Given the description of an element on the screen output the (x, y) to click on. 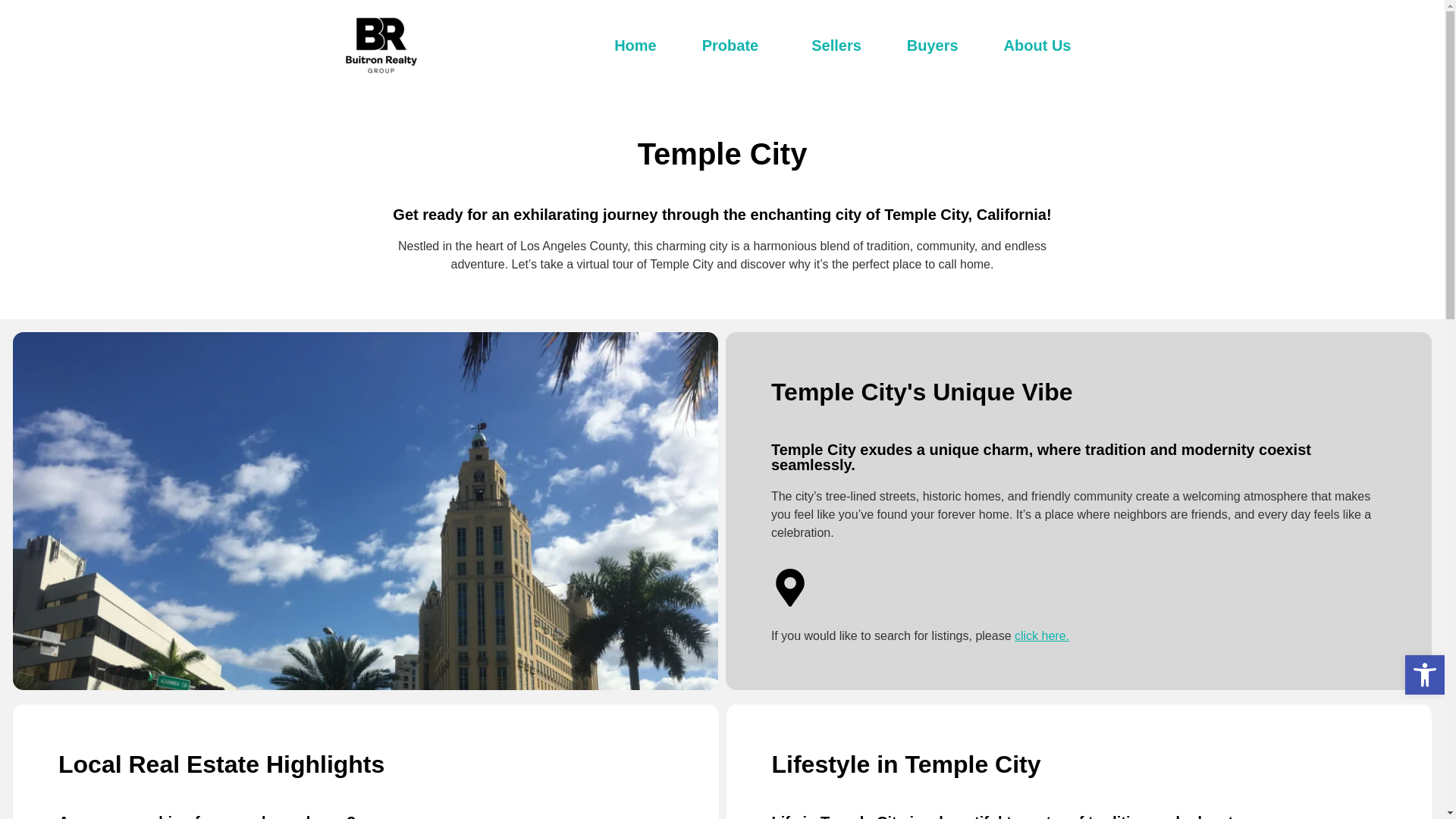
About Us (1037, 45)
click here. (1041, 635)
Sellers (836, 45)
Accessibility Tools (1424, 674)
Buyers (932, 45)
Probate (734, 45)
Home (635, 45)
